Given the description of an element on the screen output the (x, y) to click on. 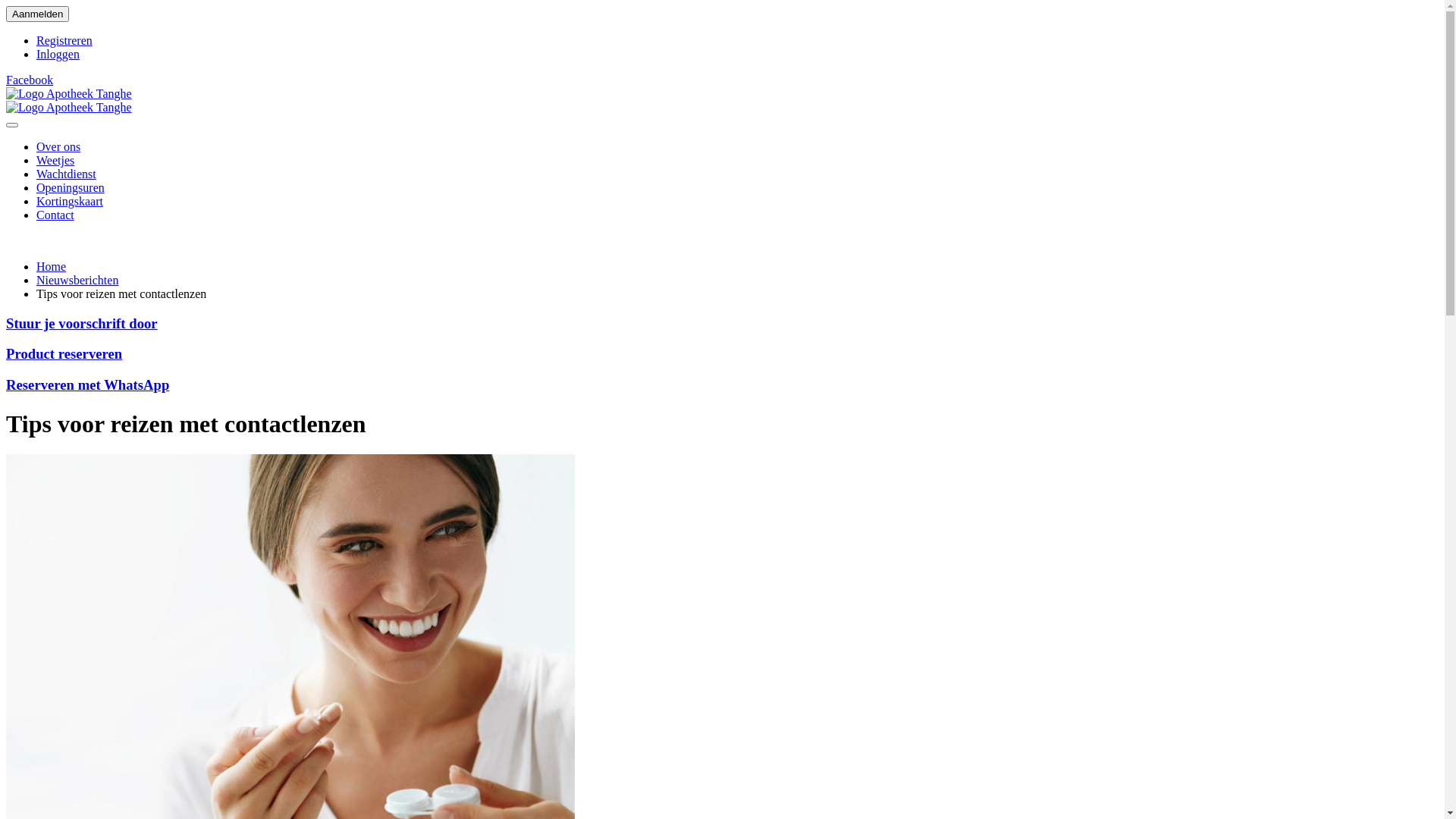
Reserveren met WhatsApp Element type: text (87, 384)
Aanmelden Element type: text (37, 13)
Over ons Element type: text (58, 146)
Nieuwsberichten Element type: text (77, 279)
Wachtdienst Element type: text (66, 173)
Registreren Element type: text (64, 40)
Product reserveren Element type: text (64, 353)
Weetjes Element type: text (55, 159)
Stuur je voorschrift door Element type: text (81, 323)
Contact Element type: text (55, 214)
Facebook Element type: text (29, 79)
Home Element type: text (50, 266)
Inloggen Element type: text (57, 53)
Openingsuren Element type: text (70, 187)
Kortingskaart Element type: text (69, 200)
